Given the description of an element on the screen output the (x, y) to click on. 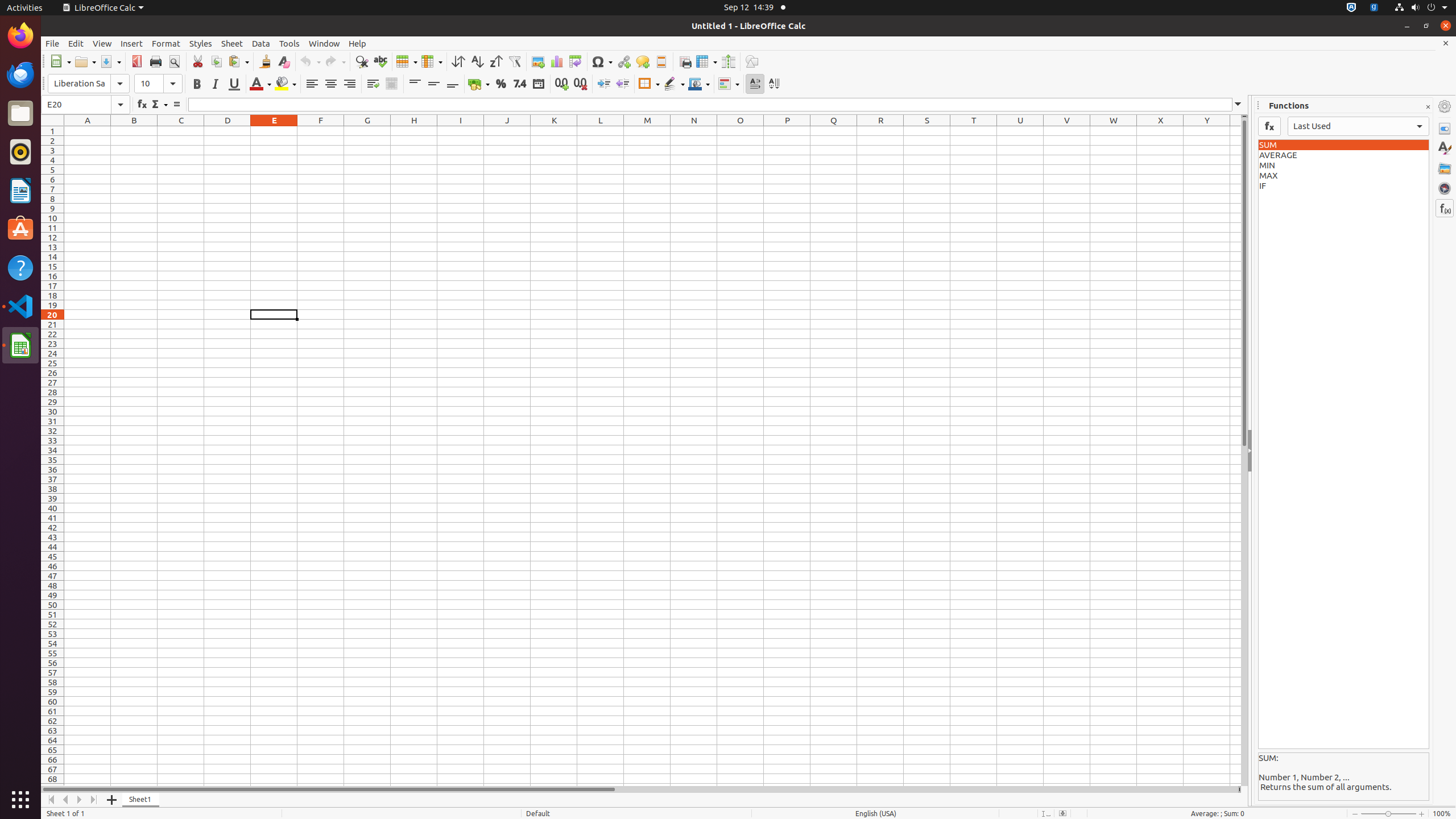
:1.72/StatusNotifierItem Element type: menu (1350, 7)
Percent Element type: push-button (500, 83)
Background Color Element type: push-button (285, 83)
Cut Element type: push-button (197, 61)
X1 Element type: table-cell (1159, 130)
